Given the description of an element on the screen output the (x, y) to click on. 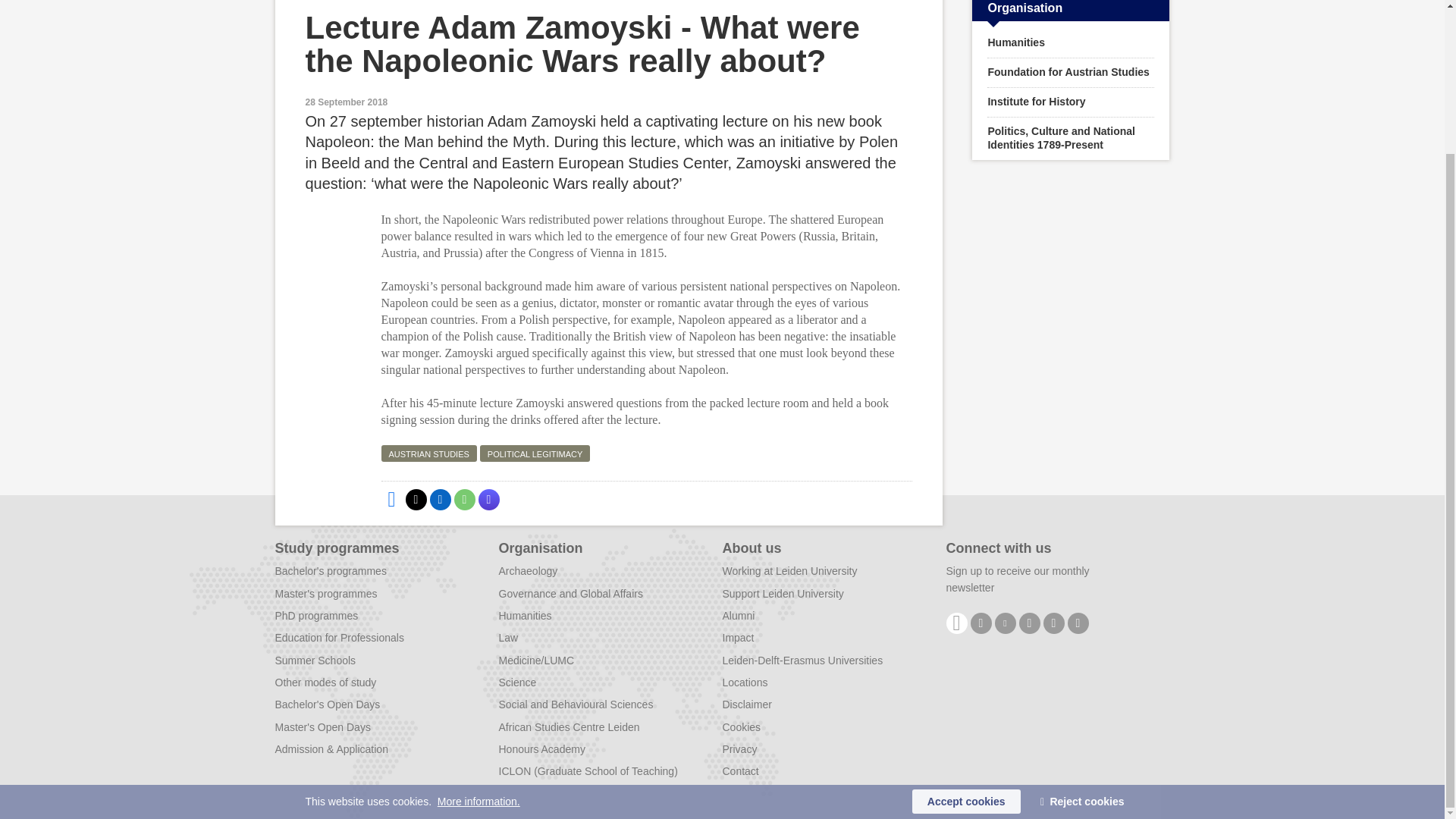
Share on Facebook (390, 499)
Share by WhatsApp (463, 499)
Share on X (415, 499)
POLITICAL LEGITIMACY (535, 453)
Share on LinkedIn (439, 499)
AUSTRIAN STUDIES (428, 453)
Humanities (1070, 42)
Share by Mastodon (488, 499)
